Given the description of an element on the screen output the (x, y) to click on. 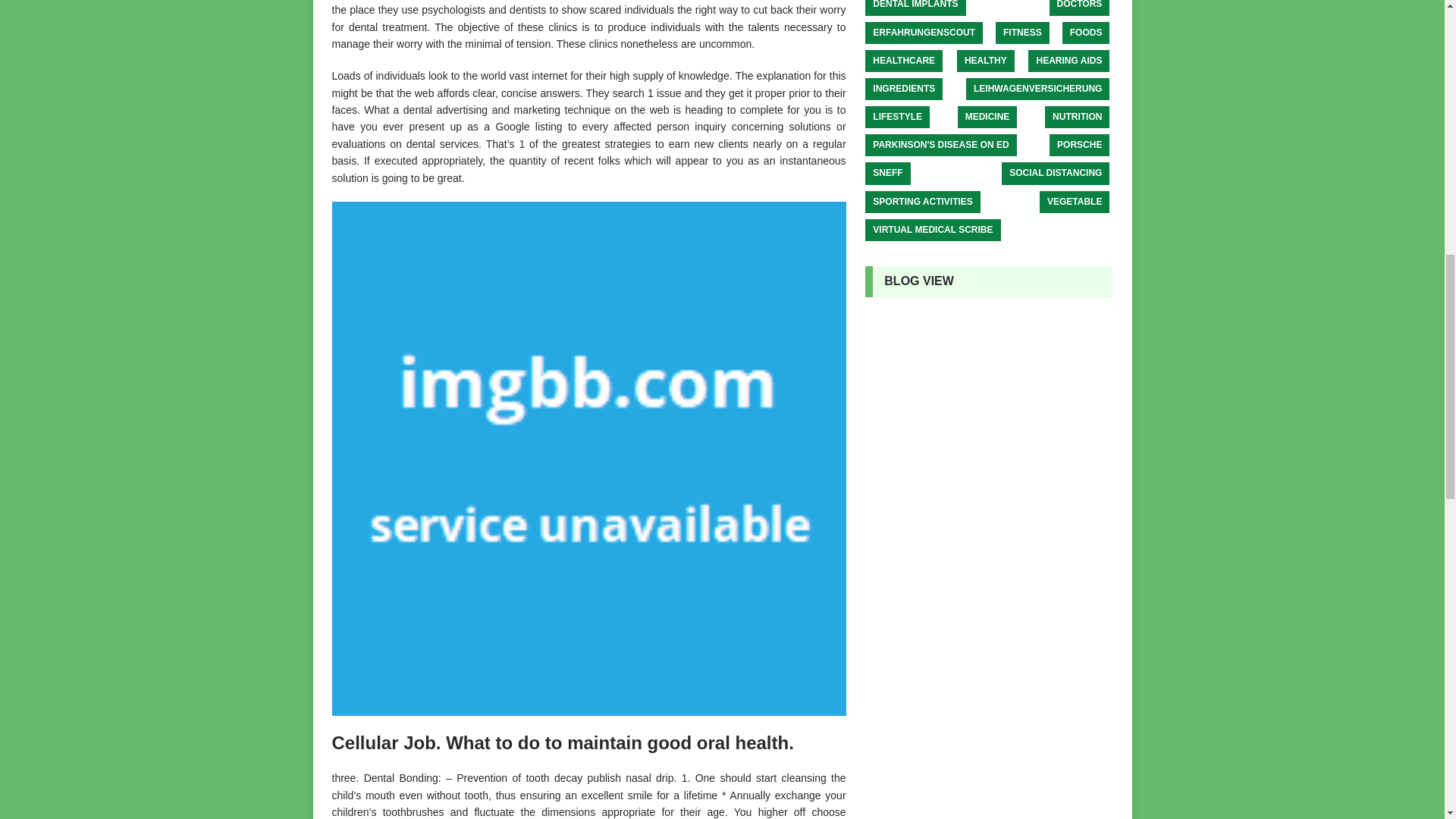
FOODS (1085, 32)
ERFAHRUNGENSCOUT (923, 32)
DENTAL IMPLANTS (914, 7)
FITNESS (1022, 32)
HEALTHCARE (903, 60)
DOCTORS (1079, 7)
